Given the description of an element on the screen output the (x, y) to click on. 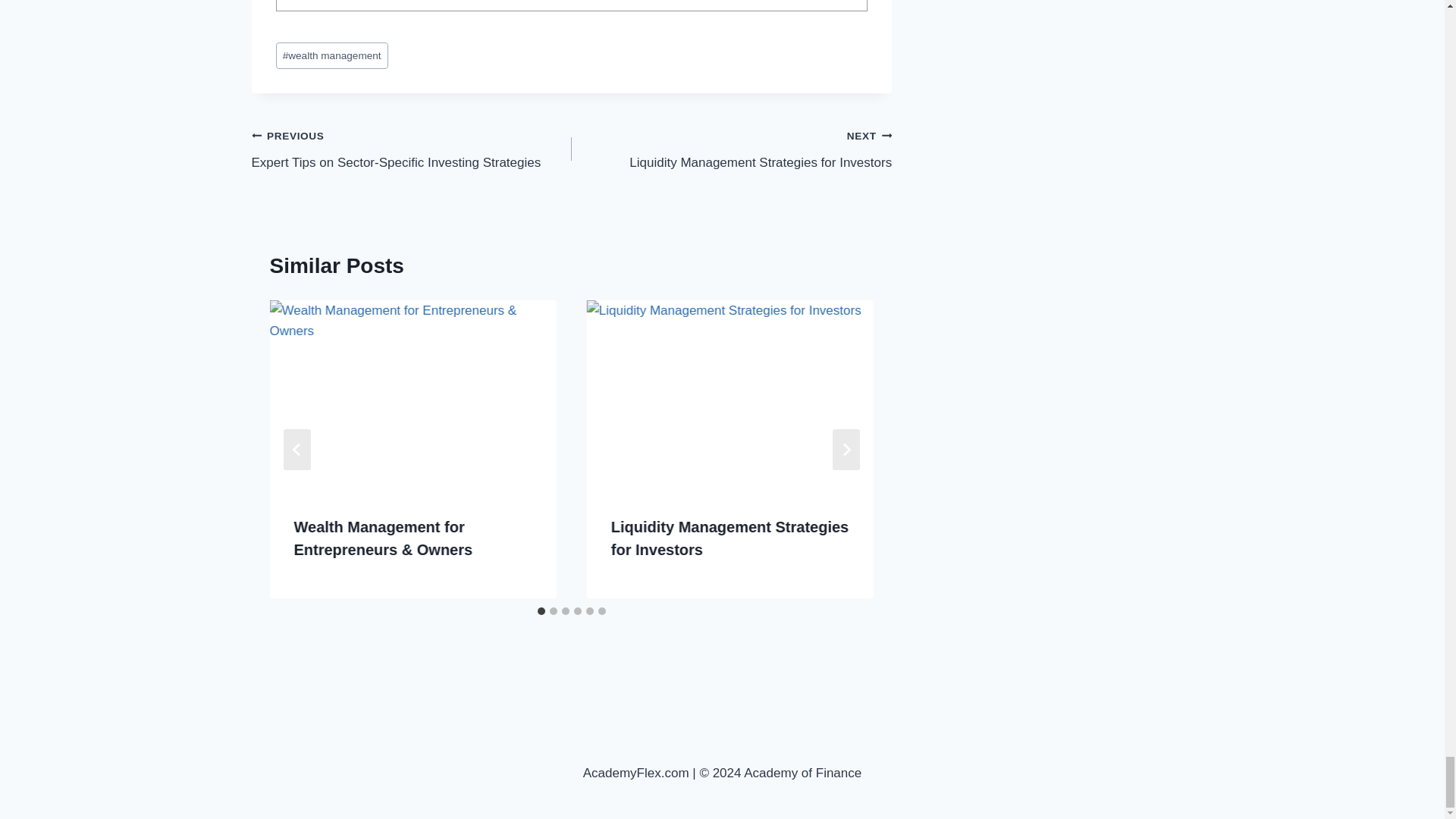
wealth management (411, 148)
